Given the description of an element on the screen output the (x, y) to click on. 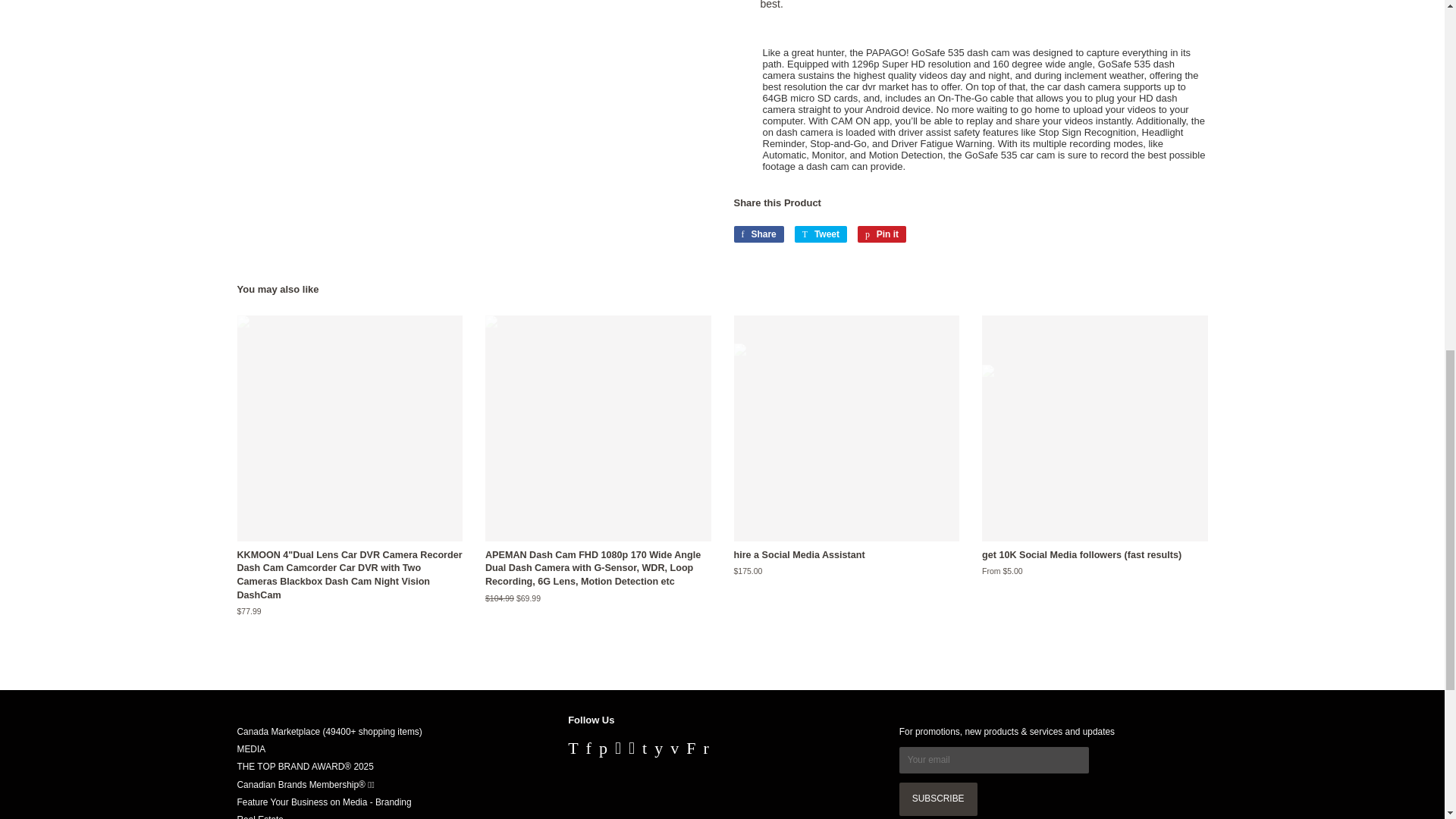
Pin on Pinterest (881, 234)
Share on Facebook (758, 234)
Subscribe (937, 798)
Tweet on Twitter (820, 234)
